Given the description of an element on the screen output the (x, y) to click on. 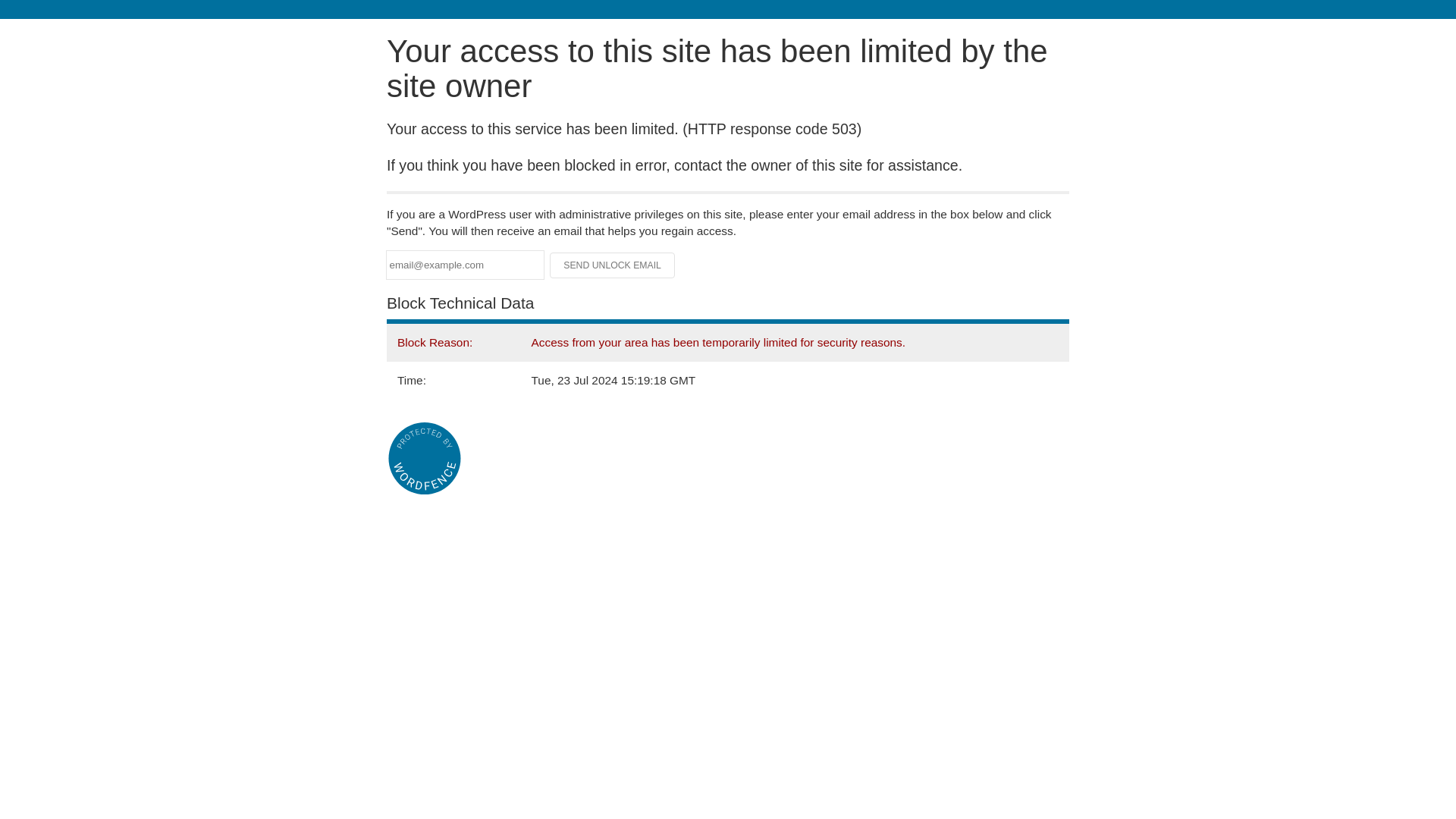
Send Unlock Email (612, 265)
Send Unlock Email (612, 265)
